Given the description of an element on the screen output the (x, y) to click on. 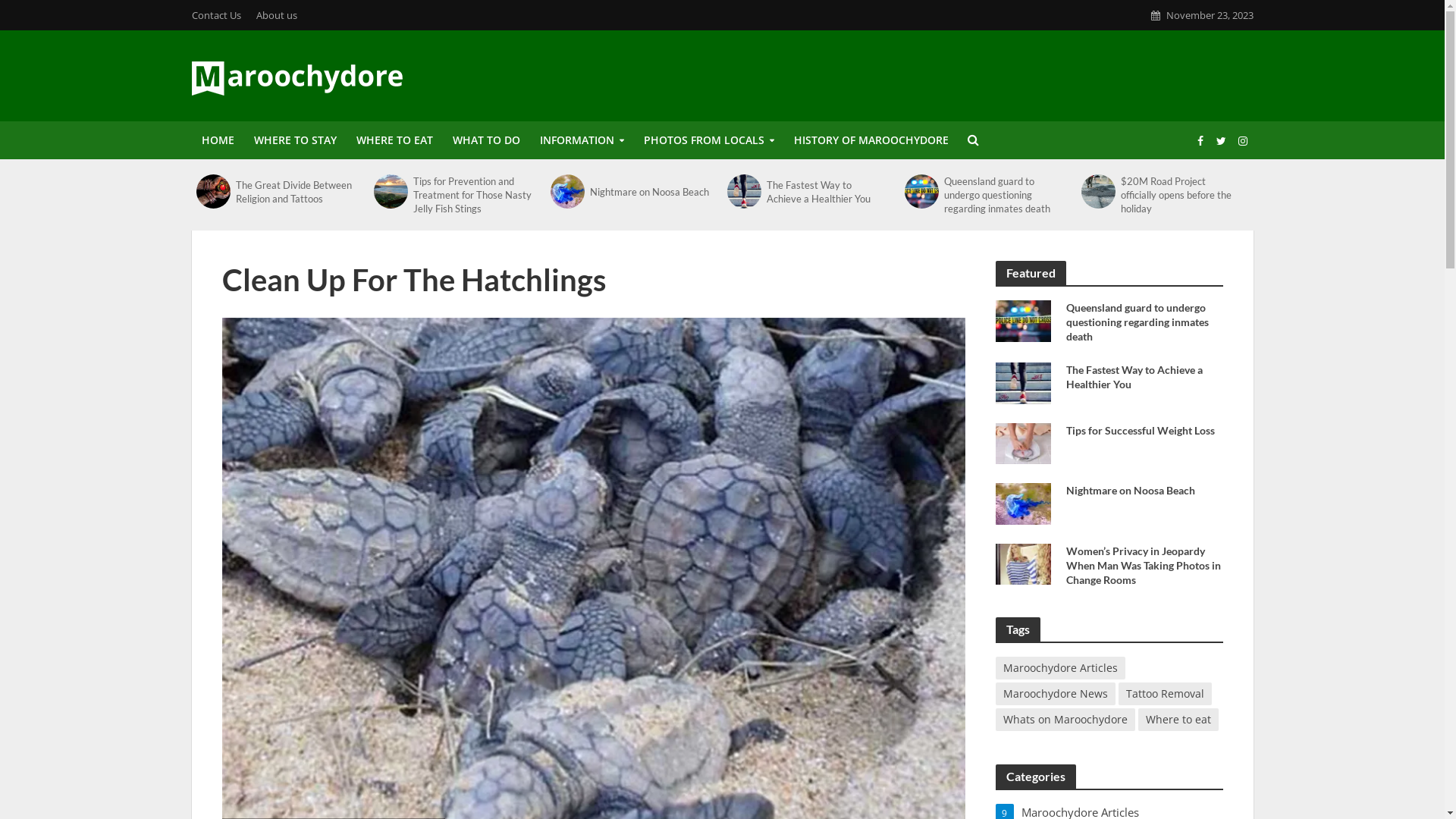
Nightmare on Noosa Beach Element type: hover (567, 191)
$20M Road Project officially opens before the holiday Element type: text (1180, 194)
The Fastest Way to Achieve a Healthier You Element type: text (1146, 376)
Nightmare on Noosa Beach Element type: text (649, 191)
Tips for Successful Weight Loss Element type: hover (1022, 441)
Where to eat Element type: text (1177, 719)
WHERE TO STAY Element type: text (295, 140)
Advertisement Element type: hover (976, 73)
PHOTOS FROM LOCALS Element type: text (708, 140)
The Fastest Way to Achieve a Healthier You Element type: hover (743, 191)
Tattoo Removal Element type: text (1164, 693)
The Great Divide Between Religion and Tattoos Element type: hover (213, 191)
The Fastest Way to Achieve a Healthier You Element type: hover (1022, 381)
About us Element type: text (276, 15)
WHAT TO DO Element type: text (486, 140)
Maroochydore Articles Element type: text (1059, 667)
HISTORY OF MAROOCHYDORE Element type: text (871, 140)
Whats on Maroochydore Element type: text (1064, 719)
INFORMATION Element type: text (581, 140)
$20M Road Project officially opens before the holiday Element type: hover (1098, 191)
The Fastest Way to Achieve a Healthier You Element type: text (826, 190)
Nightmare on Noosa Beach Element type: hover (1022, 501)
Contact Us Element type: text (219, 15)
The Great Divide Between Religion and Tattoos Element type: text (295, 190)
Maroochydore News Element type: text (1054, 693)
WHERE TO EAT Element type: text (393, 140)
HOME Element type: text (217, 140)
Nightmare on Noosa Beach Element type: text (1146, 490)
Tips for Successful Weight Loss Element type: text (1146, 430)
